Given the description of an element on the screen output the (x, y) to click on. 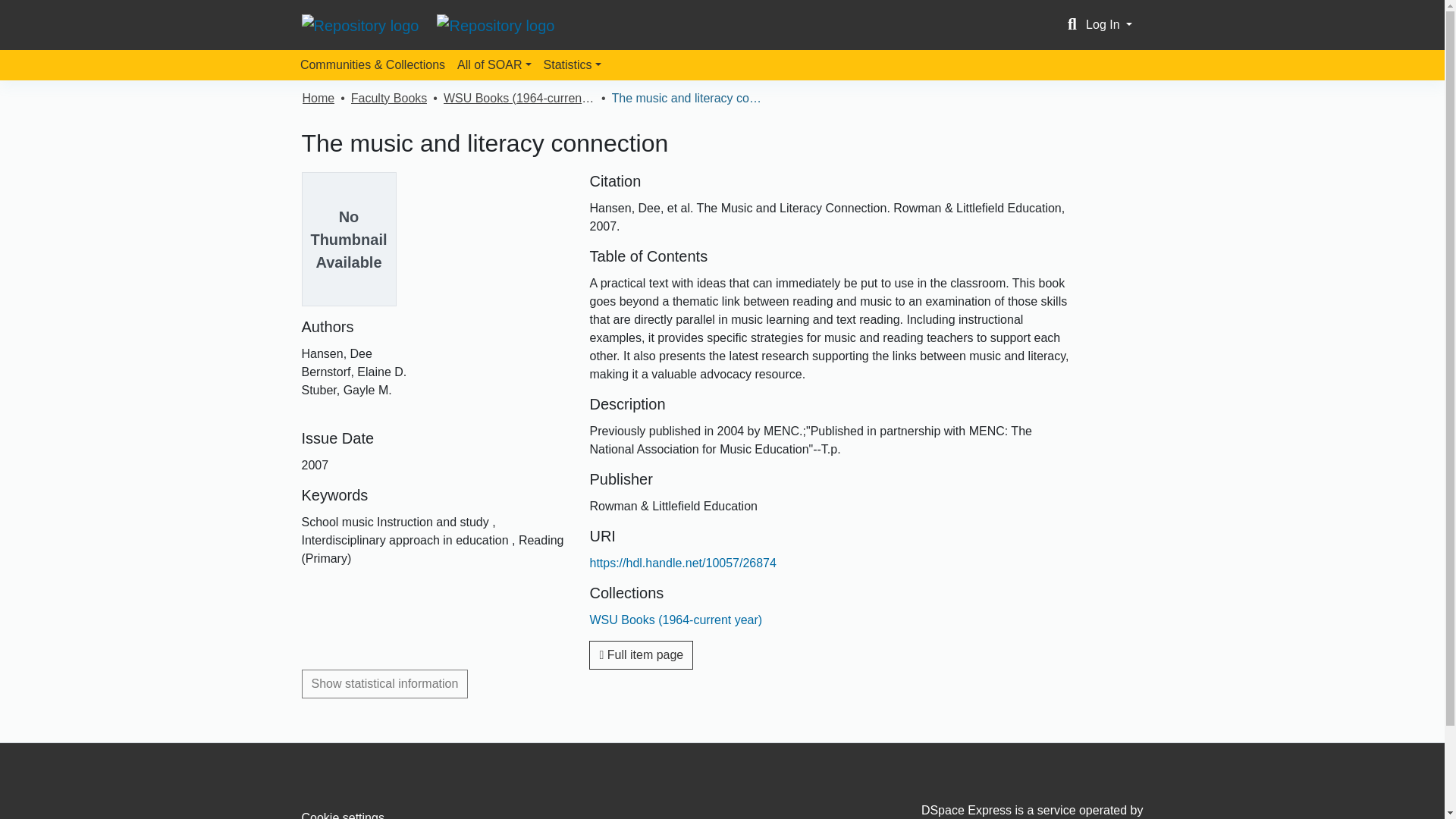
DSpace Express is a service operated by (1009, 811)
Log In (1108, 24)
Show statistical information (384, 683)
Search (1072, 24)
Cookie settings (342, 815)
Faculty Books (388, 98)
All of SOAR (494, 64)
Full item page (641, 654)
Home (317, 98)
Statistics (572, 64)
